Given the description of an element on the screen output the (x, y) to click on. 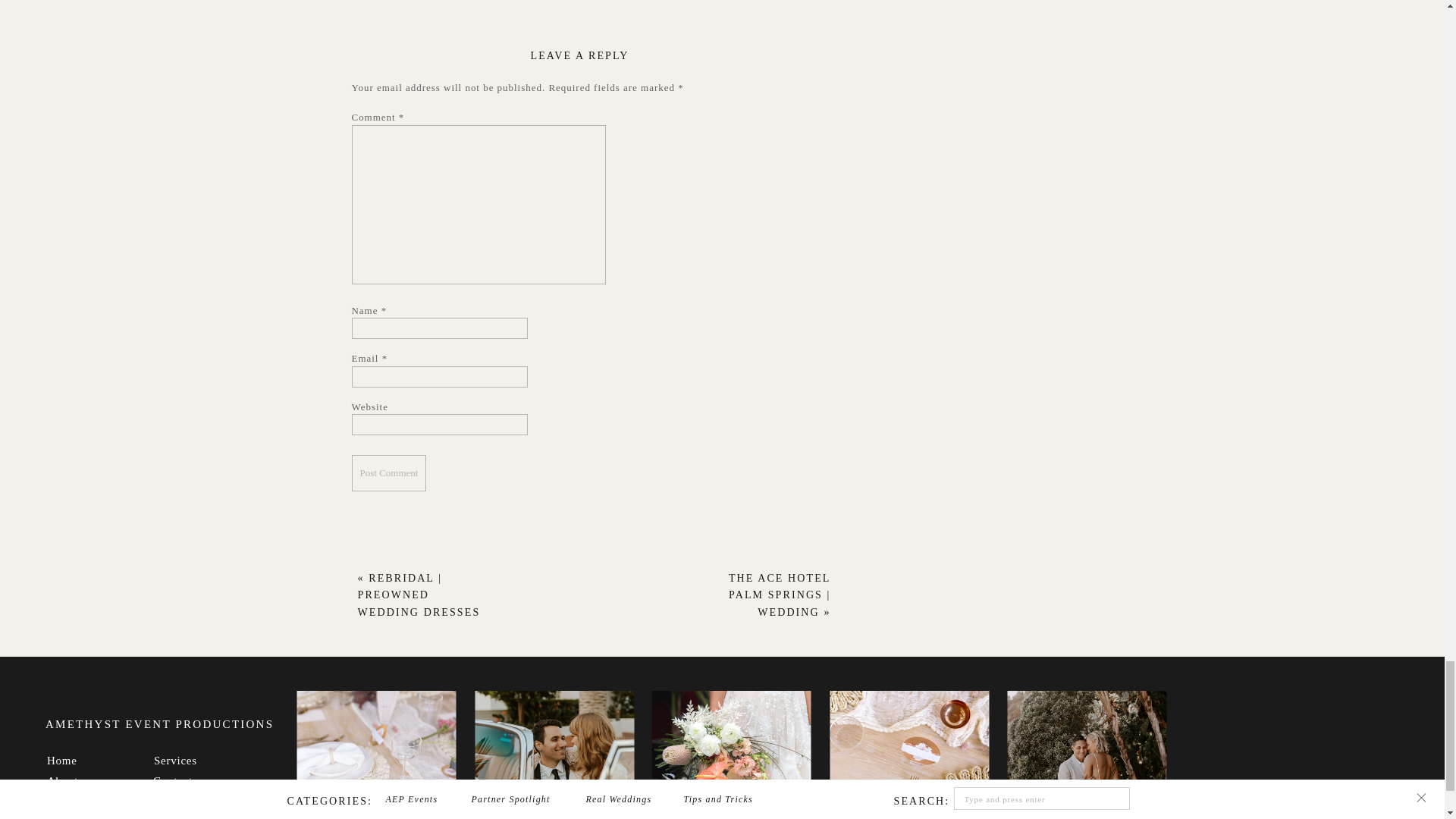
Portfolio (82, 798)
Services (189, 757)
About (82, 778)
Blog (188, 798)
Post Comment (389, 473)
Contact (188, 778)
Home (82, 757)
Post Comment (389, 473)
